Given the description of an element on the screen output the (x, y) to click on. 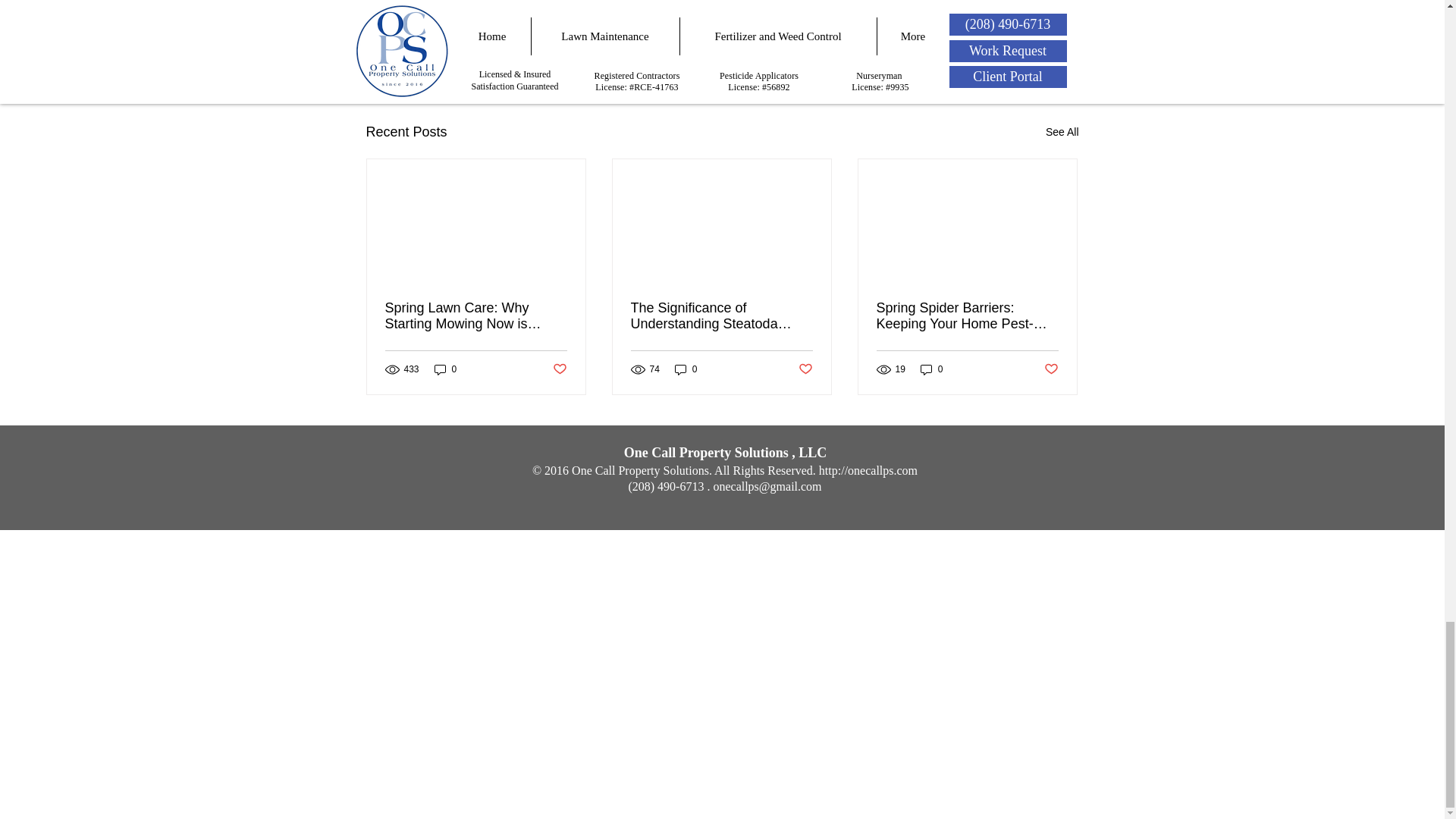
See All (1061, 132)
0 (445, 368)
Spring Lawn Care: Why Starting Mowing Now is Crucial (476, 316)
Post not marked as liked (995, 49)
0 (685, 368)
Post not marked as liked (558, 369)
Post not marked as liked (804, 369)
